Given the description of an element on the screen output the (x, y) to click on. 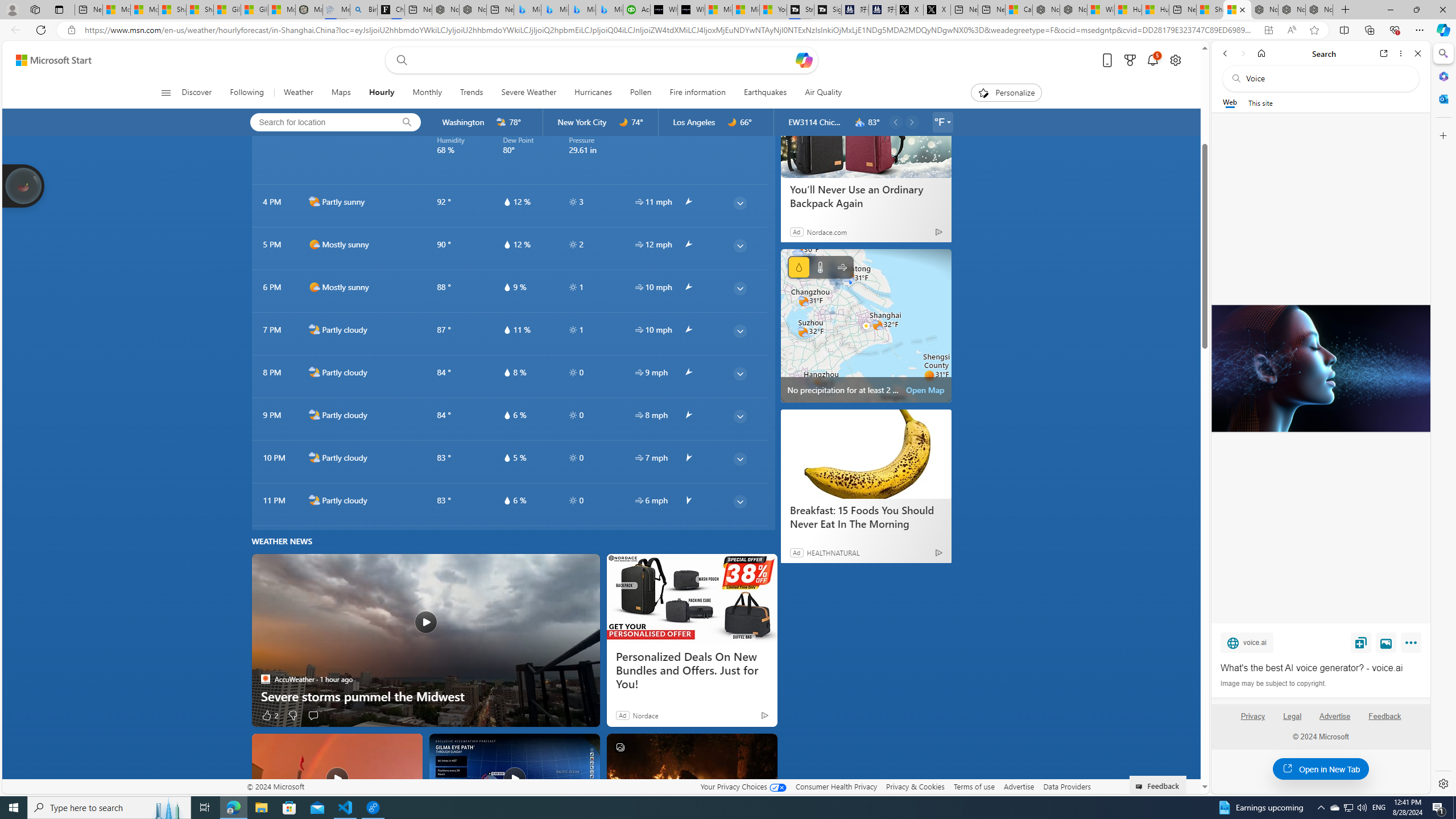
d2000 (314, 201)
Hourly (381, 92)
Join us in planting real trees to help our planet! (23, 185)
d1000 (314, 287)
Your Privacy Choices (743, 786)
Class: feedback_link_icon-DS-EntryPoint1-1 (1140, 786)
Your Privacy Choices (743, 785)
Data Providers (1066, 786)
n0000 (732, 121)
Legal (1291, 715)
